Given the description of an element on the screen output the (x, y) to click on. 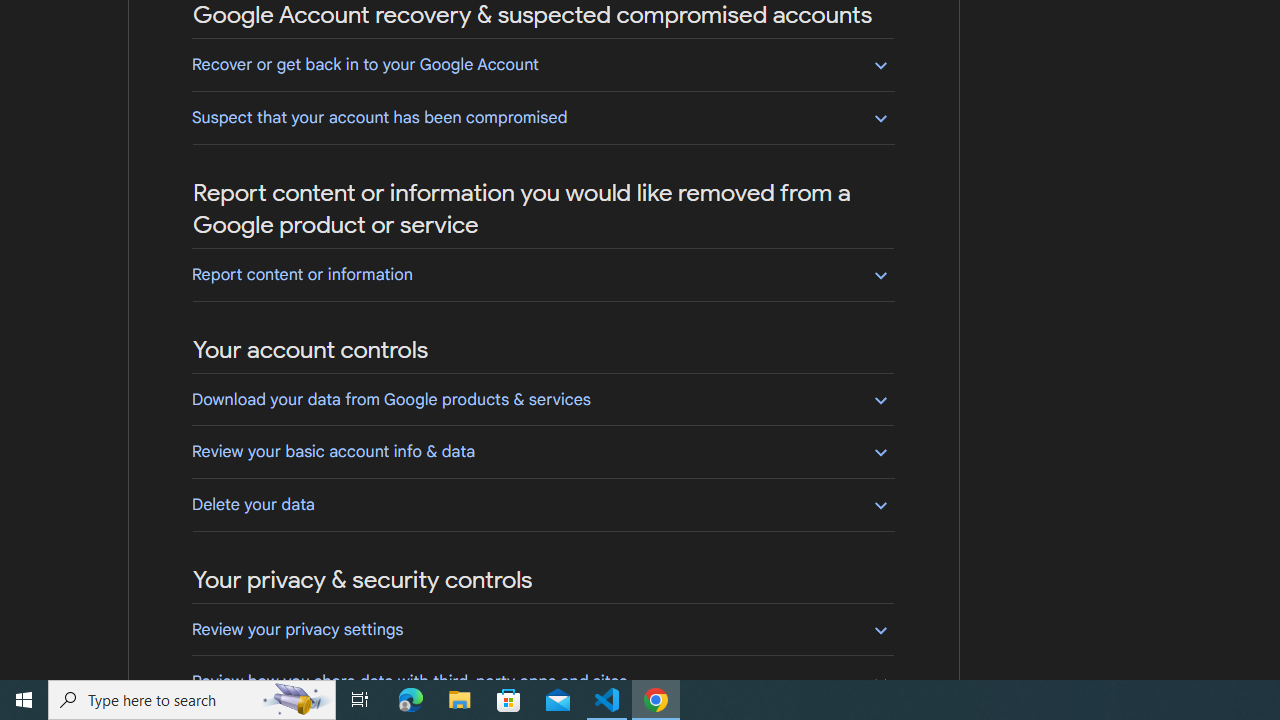
Recover or get back in to your Google Account (542, 64)
Delete your data (542, 504)
Review your basic account info & data (542, 451)
Review how you share data with third-party apps and sites (542, 681)
Review your privacy settings (542, 629)
Report content or information (542, 273)
Suspect that your account has been compromised (542, 117)
Download your data from Google products & services (542, 399)
